Given the description of an element on the screen output the (x, y) to click on. 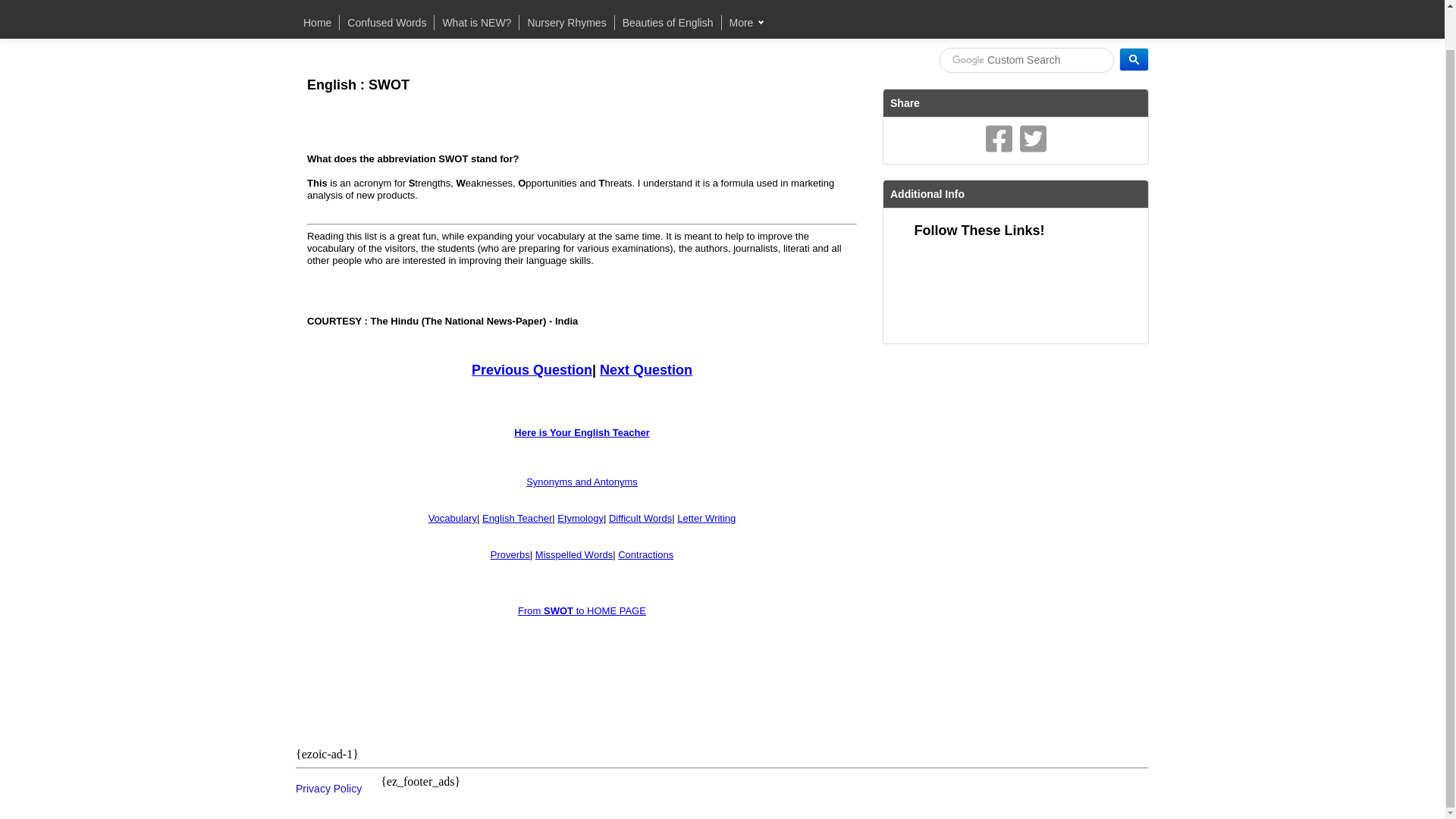
Vocabulary (452, 518)
More (745, 22)
Etymology (580, 518)
What is NEW? (476, 22)
Here is Your English Teacher (581, 432)
Next Question (646, 368)
Previous Question (531, 368)
Confused Words (386, 22)
search (1026, 60)
Beauties of English (668, 22)
search (1133, 59)
Synonyms and Antonyms (581, 481)
English Teacher (516, 518)
Difficult Words (639, 518)
Home (316, 22)
